Given the description of an element on the screen output the (x, y) to click on. 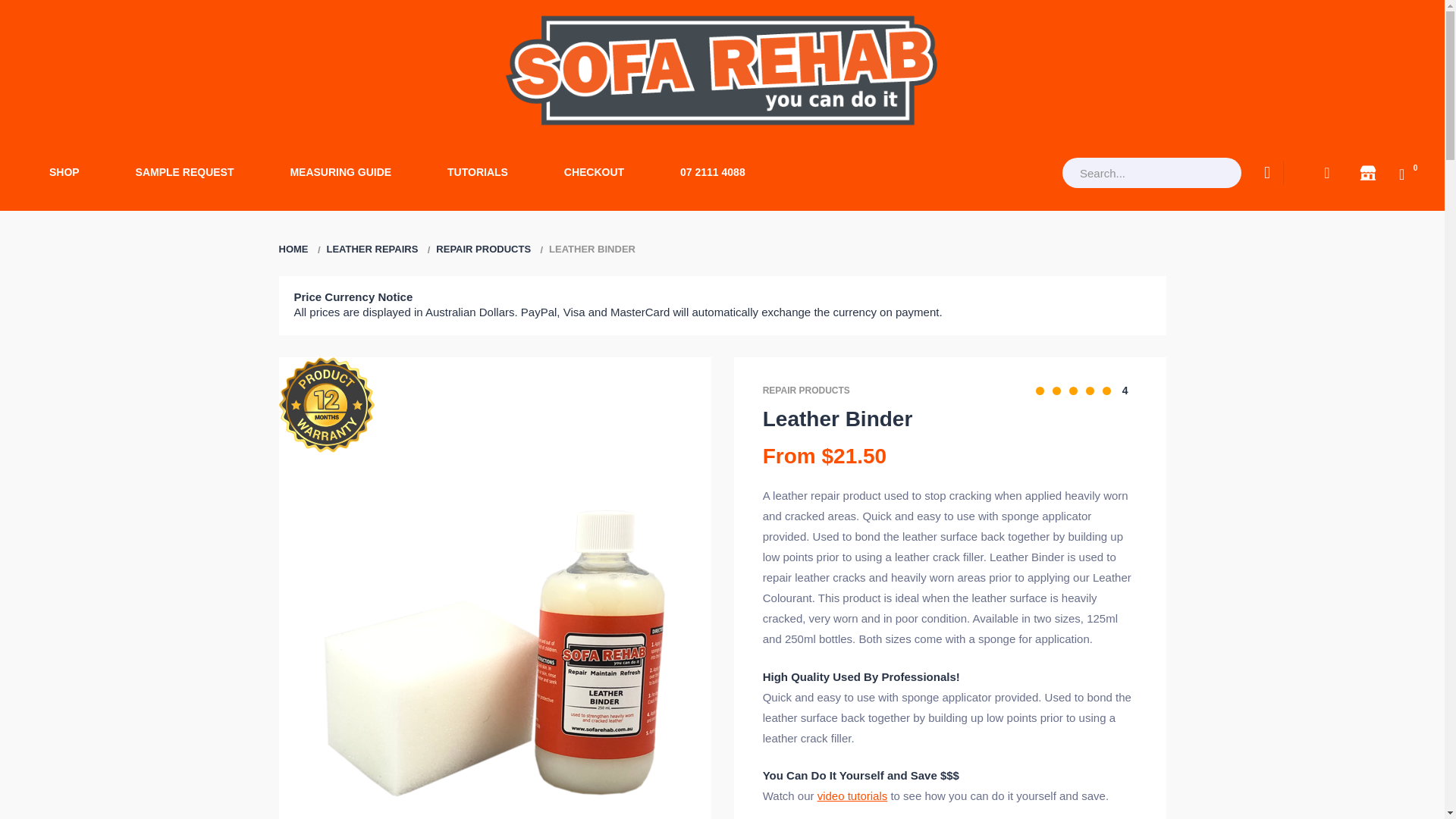
CHECKOUT (593, 173)
to see how you can do it yourself and save. (997, 795)
video tutorials (852, 795)
LEATHER REPAIRS (371, 249)
TUTORIALS (477, 173)
07 2111 4088 (712, 173)
Photo 29-4-19, 3 37 09 pm (494, 642)
REPAIR PRODUCTS (483, 249)
MEASURING GUIDE (340, 173)
4 (1090, 390)
SHOP (64, 173)
3 (1072, 390)
0 (1410, 173)
2 (1056, 390)
SAMPLE REQUEST (184, 173)
